Given the description of an element on the screen output the (x, y) to click on. 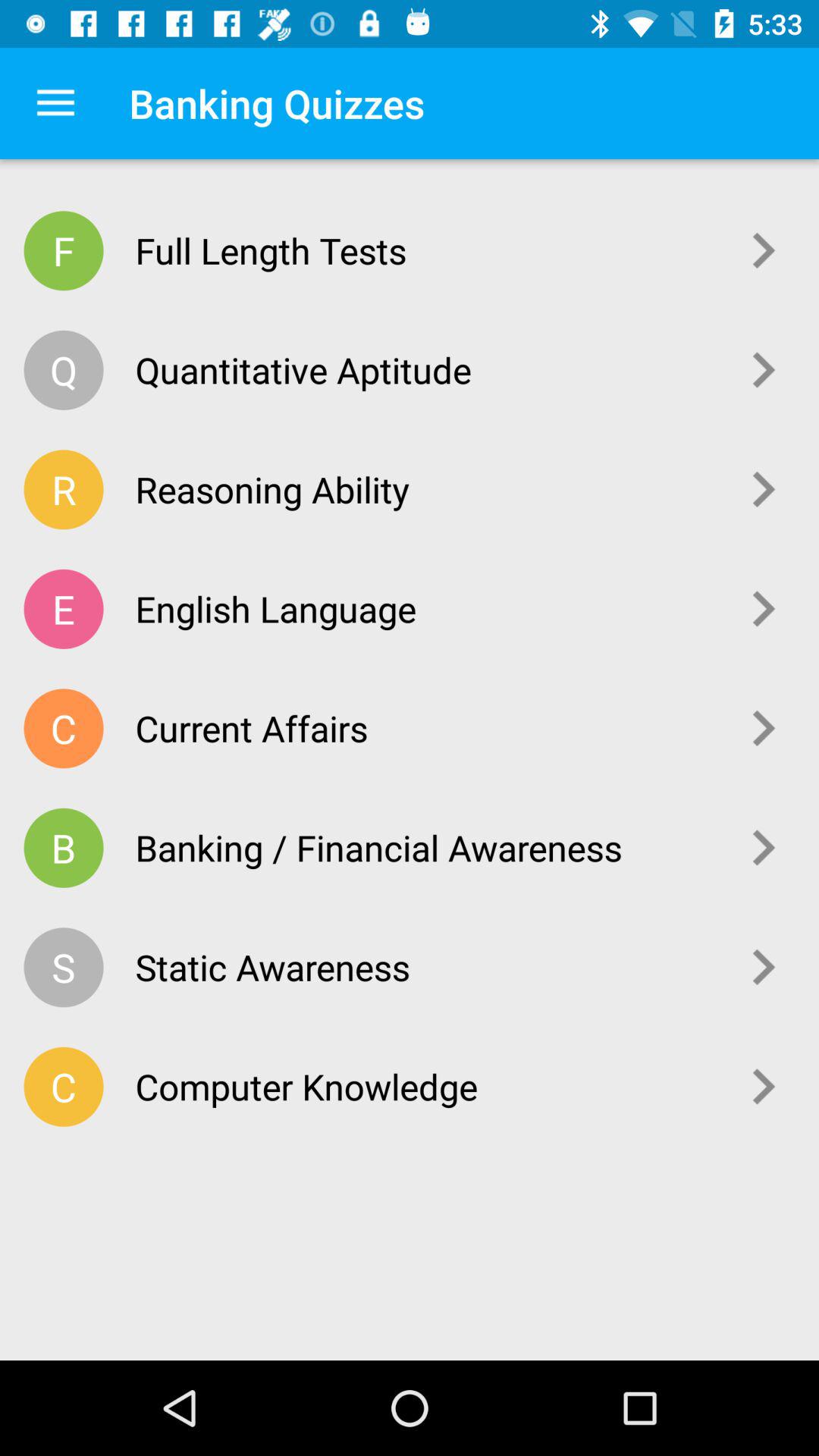
launch the computer knowledge (425, 1086)
